Given the description of an element on the screen output the (x, y) to click on. 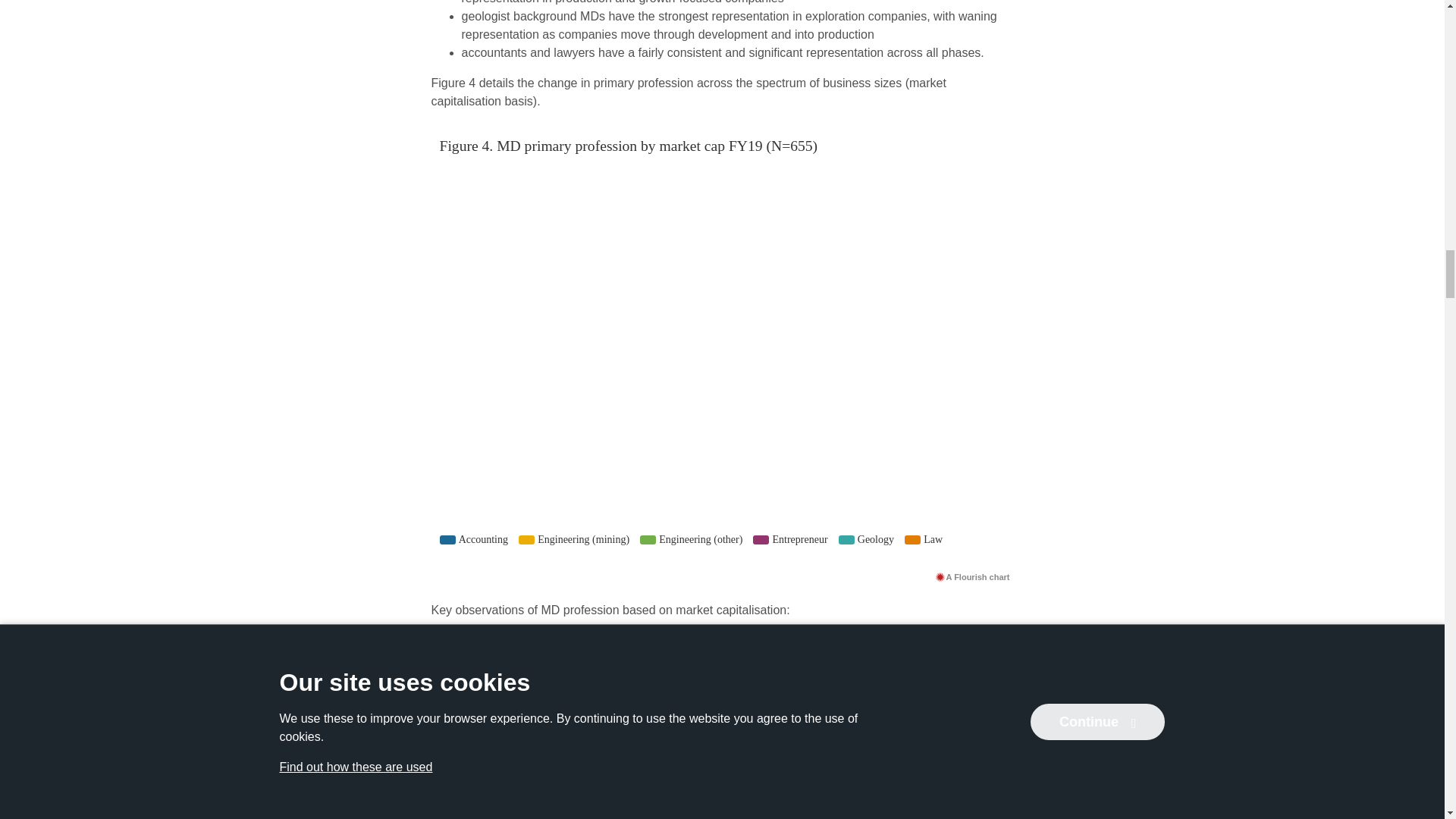
A Flourish chart (972, 576)
